Given the description of an element on the screen output the (x, y) to click on. 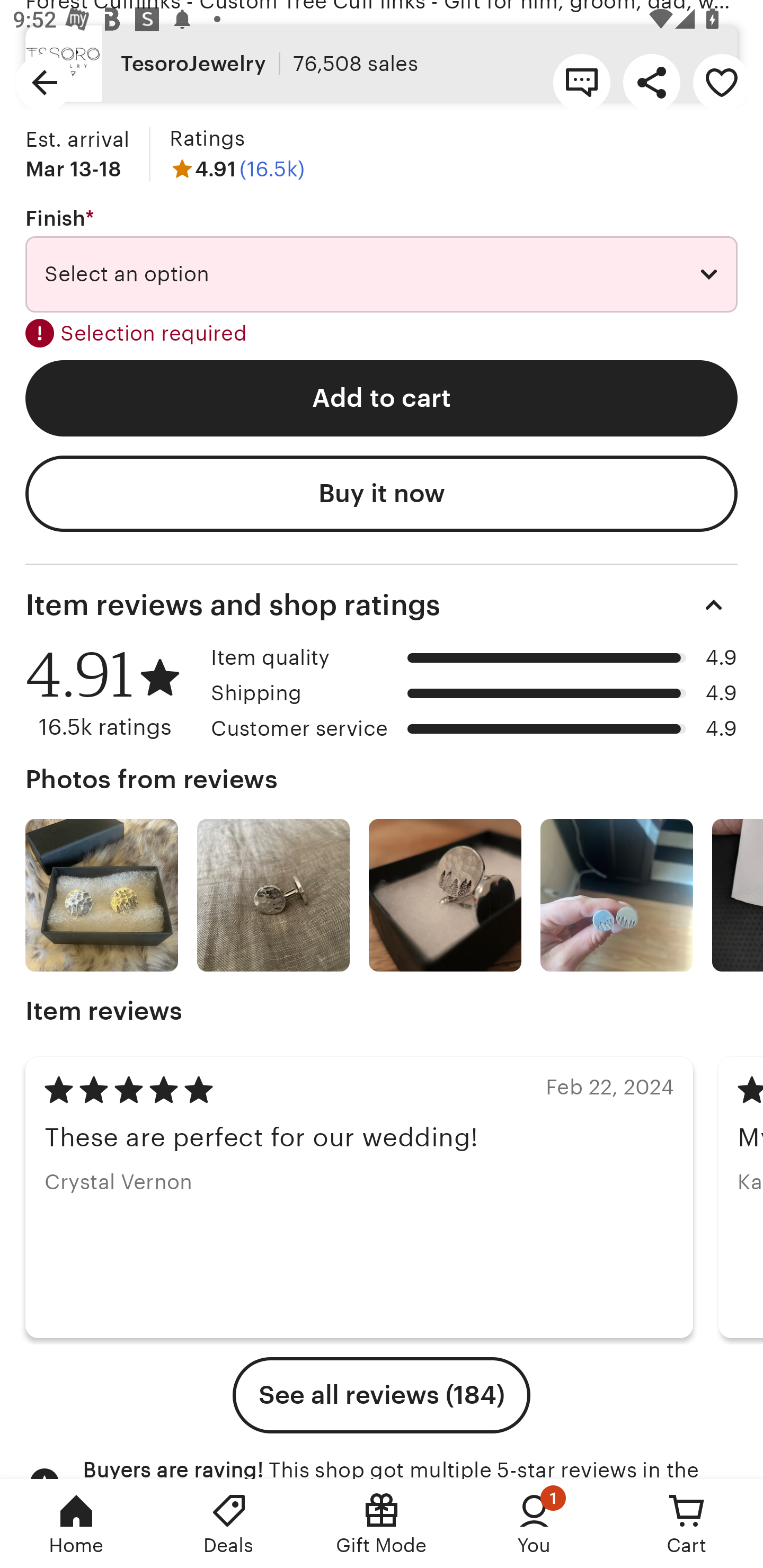
TesoroJewelry 76,508 sales (381, 63)
Navigate up (44, 81)
Contact shop (581, 81)
Share (651, 81)
Ratings (206, 138)
4.91 (16.5k) (237, 168)
Select an option (381, 274)
Add to cart (381, 397)
Buy it now (381, 493)
Item reviews and shop ratings (381, 604)
4.91 16.5k ratings (111, 693)
Photo from review (101, 895)
Photo from review (272, 895)
Photo from review (444, 895)
Photo from review (616, 895)
See all reviews (184) (381, 1395)
Deals (228, 1523)
Gift Mode (381, 1523)
You, 1 new notification You (533, 1523)
Cart (686, 1523)
